Given the description of an element on the screen output the (x, y) to click on. 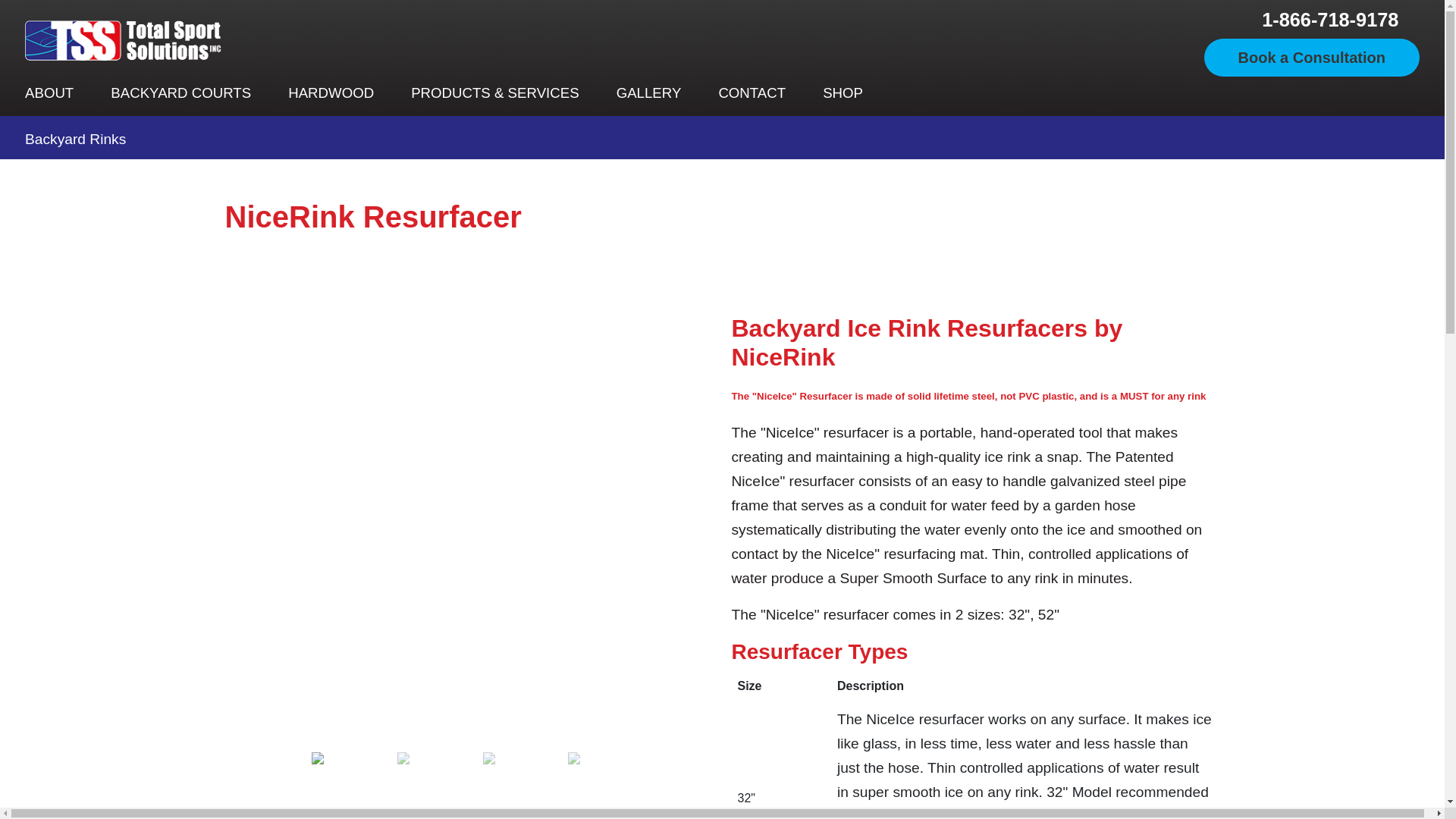
ABOUT (52, 92)
Book a Consultation (1311, 57)
Hardwood Gym Flooring Canada (334, 92)
1-866-718-9178 (1329, 20)
HARDWOOD (334, 92)
BACKYARD COURTS (183, 92)
